Given the description of an element on the screen output the (x, y) to click on. 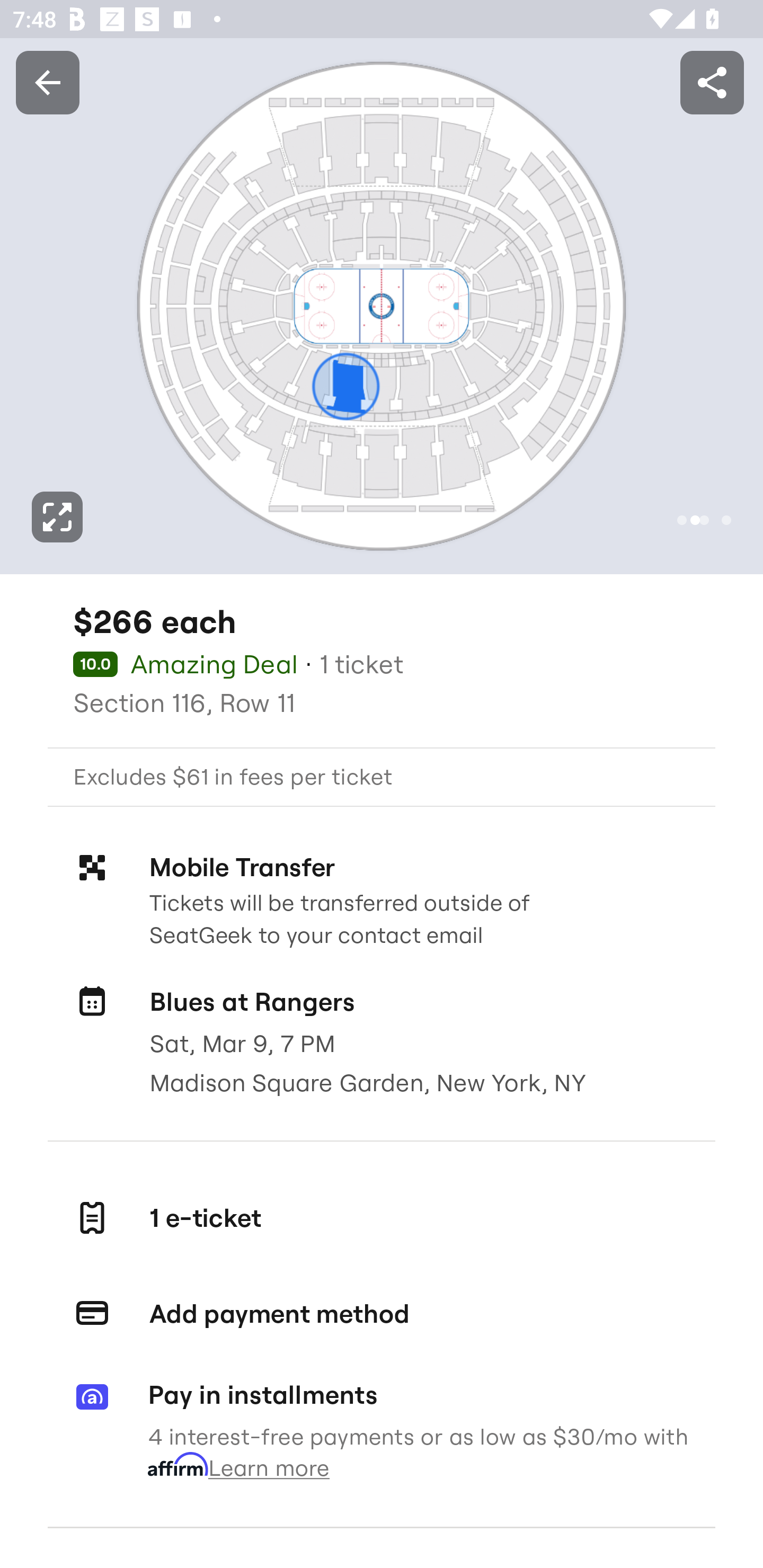
Back (47, 81)
Share (711, 81)
Expand image to fullscreen (57, 517)
1 e-ticket (381, 1217)
Add payment method (381, 1313)
